Given the description of an element on the screen output the (x, y) to click on. 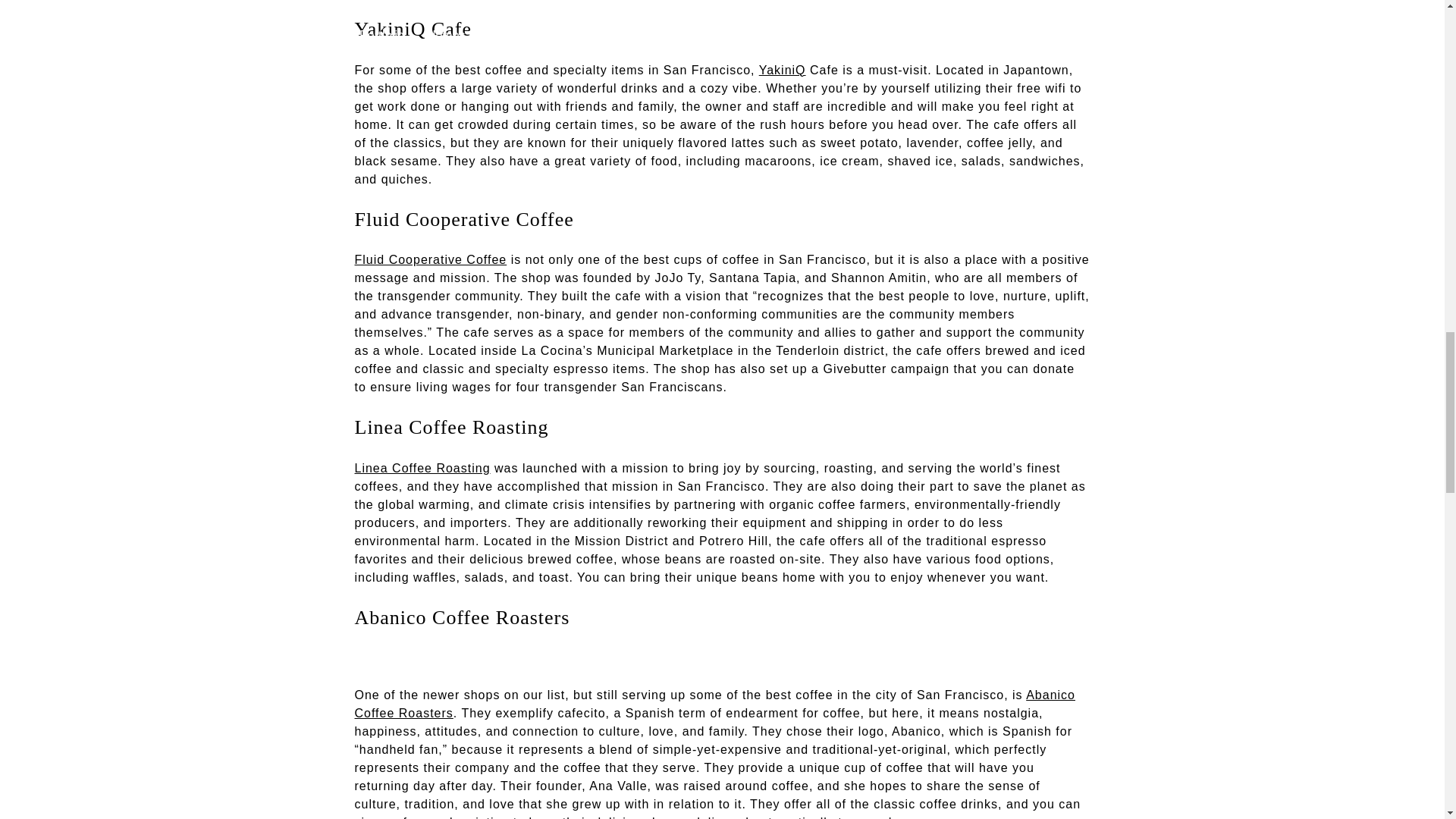
Fluid Cooperative Coffee (430, 259)
YakiniQ (782, 69)
Linea Coffee Roasting (422, 468)
Abanico Coffee Roasters (715, 703)
